Given the description of an element on the screen output the (x, y) to click on. 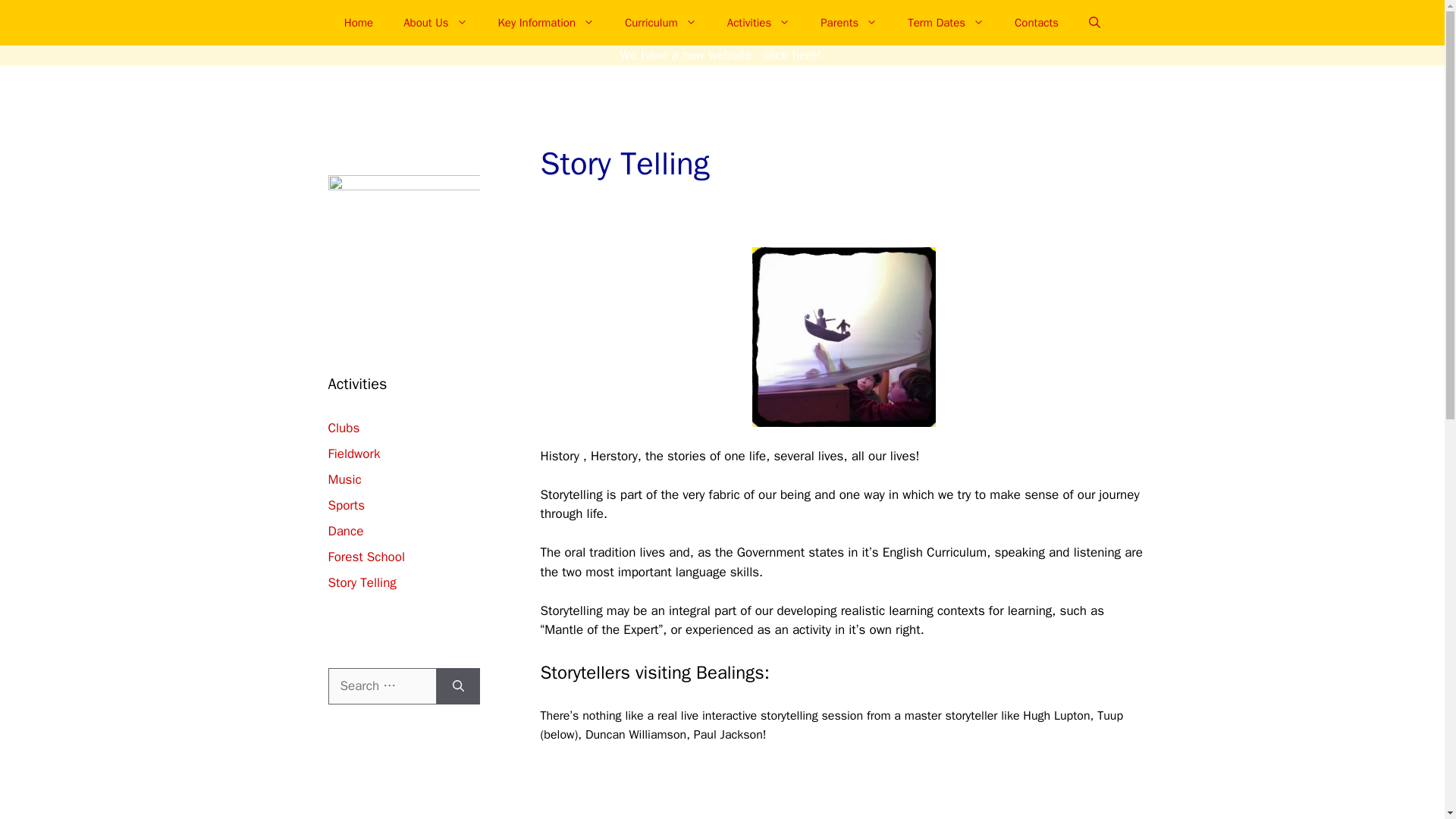
Home (358, 22)
Story Telling (361, 582)
Sports (346, 505)
Fieldwork (353, 453)
Forest School (365, 556)
About Us (434, 22)
Clubs (343, 427)
Curriculum (660, 22)
Music (344, 479)
Search for: (381, 686)
